Given the description of an element on the screen output the (x, y) to click on. 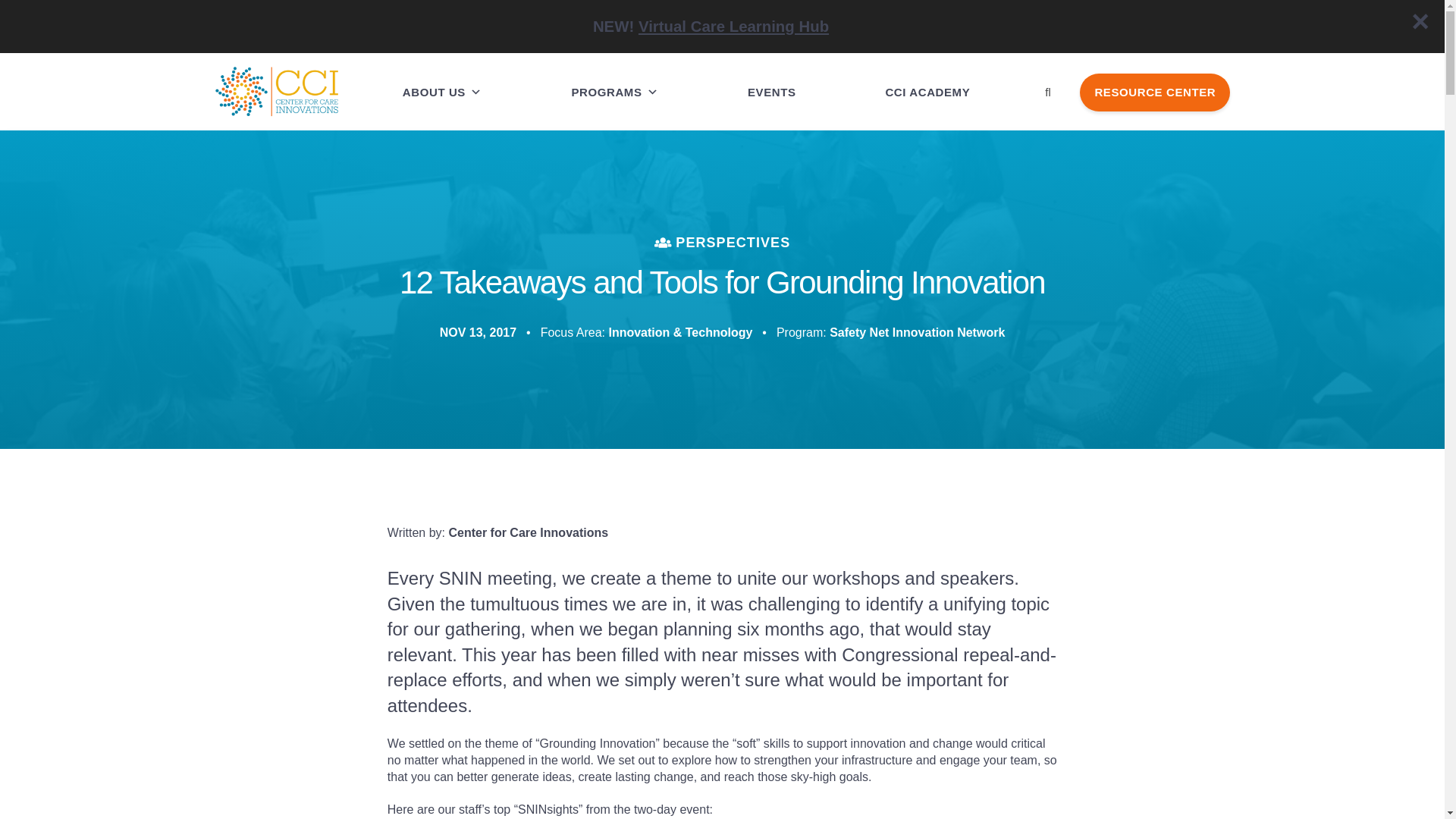
CCI ACADEMY (927, 82)
ABOUT US (442, 39)
EVENTS (771, 74)
RESOURCE CENTER (1155, 91)
PROGRAMS (614, 39)
